Given the description of an element on the screen output the (x, y) to click on. 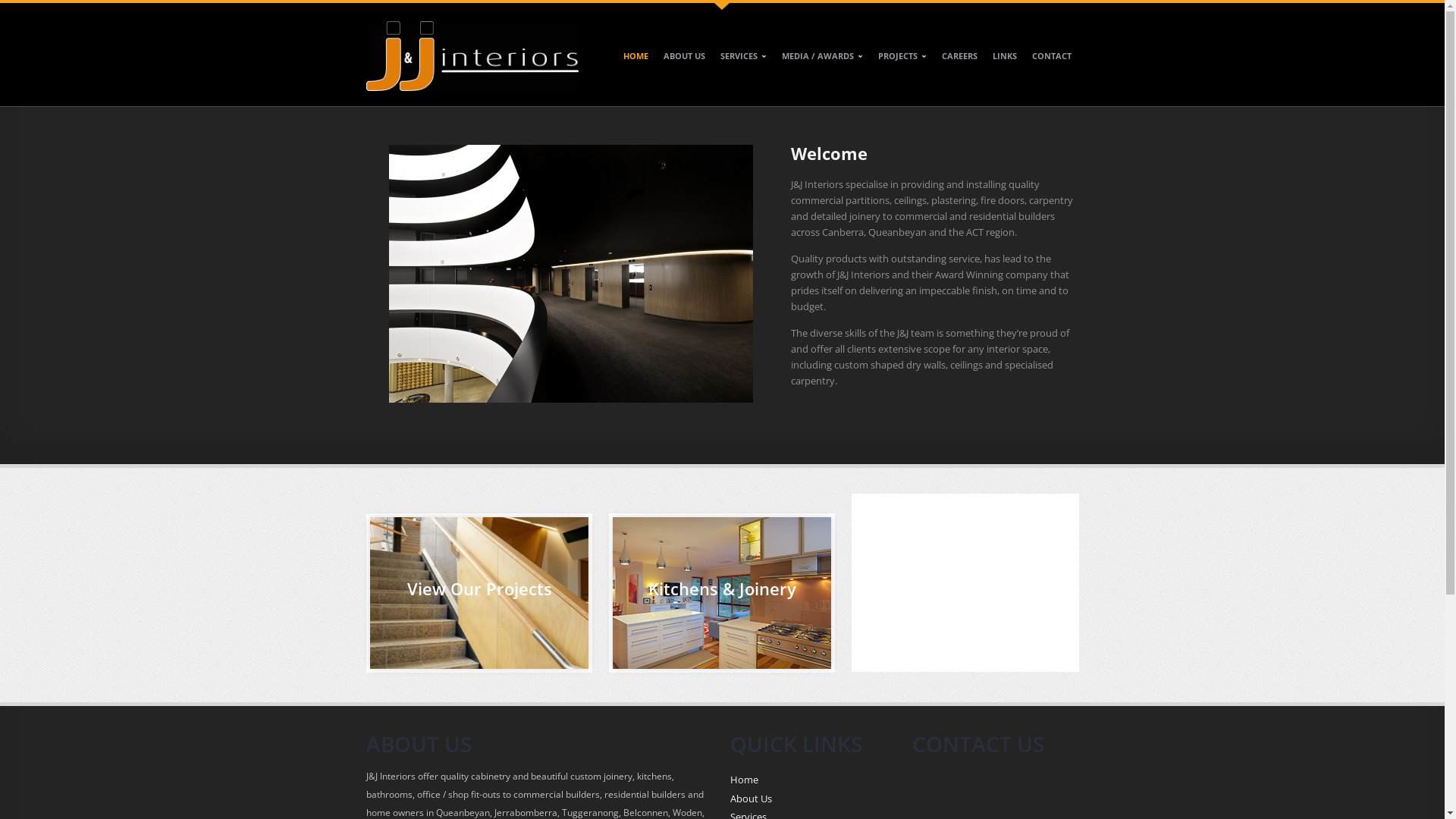
ABOUT US Element type: text (683, 67)
LINKS Element type: text (1003, 67)
Home Element type: text (743, 779)
HOME Element type: text (635, 67)
About Us Element type: text (750, 798)
CONTACT Element type: text (1050, 67)
Home Element type: hover (471, 59)
Skip to main content Element type: text (47, 0)
Kitchen joinery Jerrabomberra, Sink drawers Element type: hover (570, 273)
CAREERS Element type: text (959, 67)
